Given the description of an element on the screen output the (x, y) to click on. 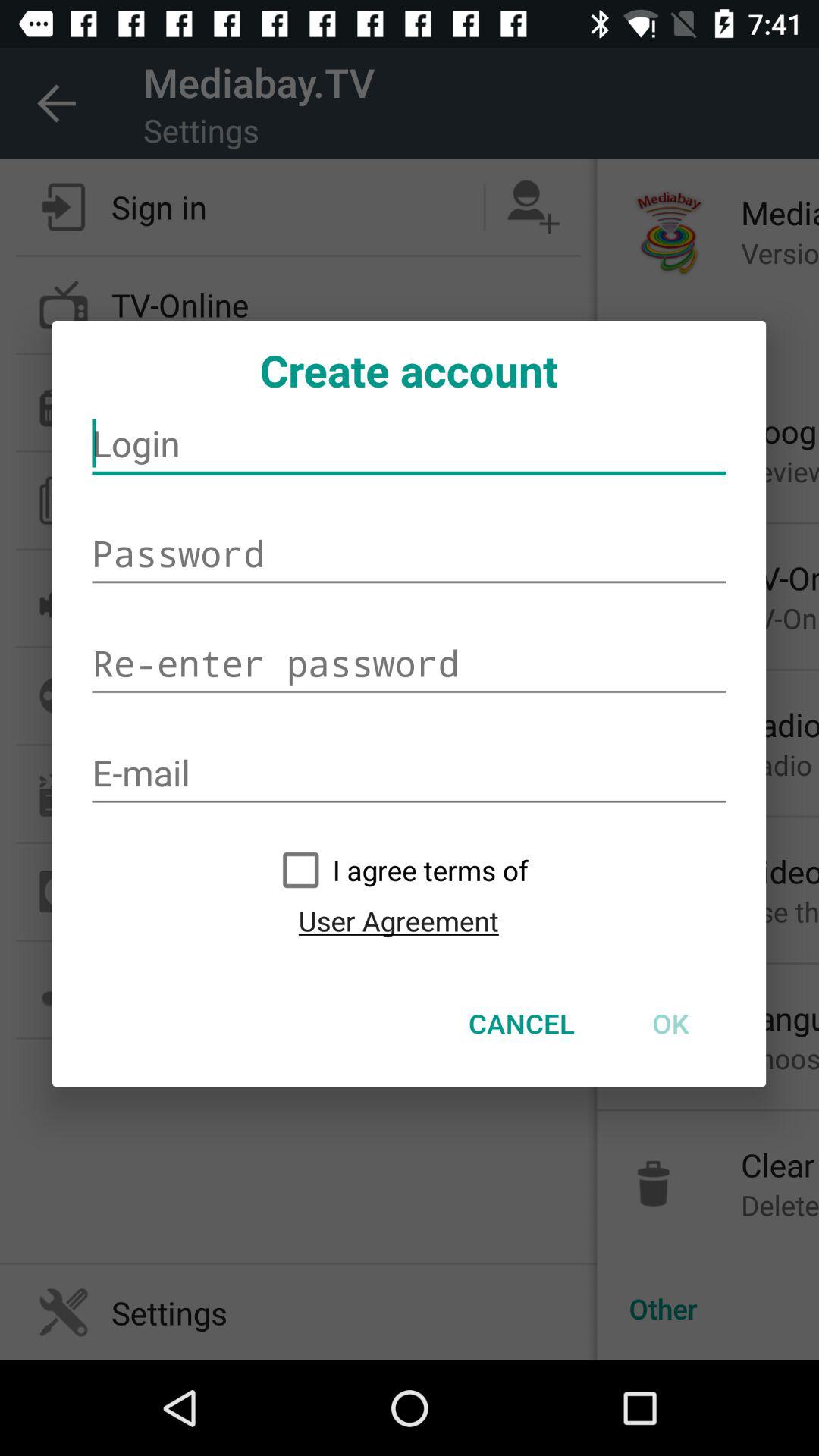
scroll to user agreement icon (398, 920)
